Given the description of an element on the screen output the (x, y) to click on. 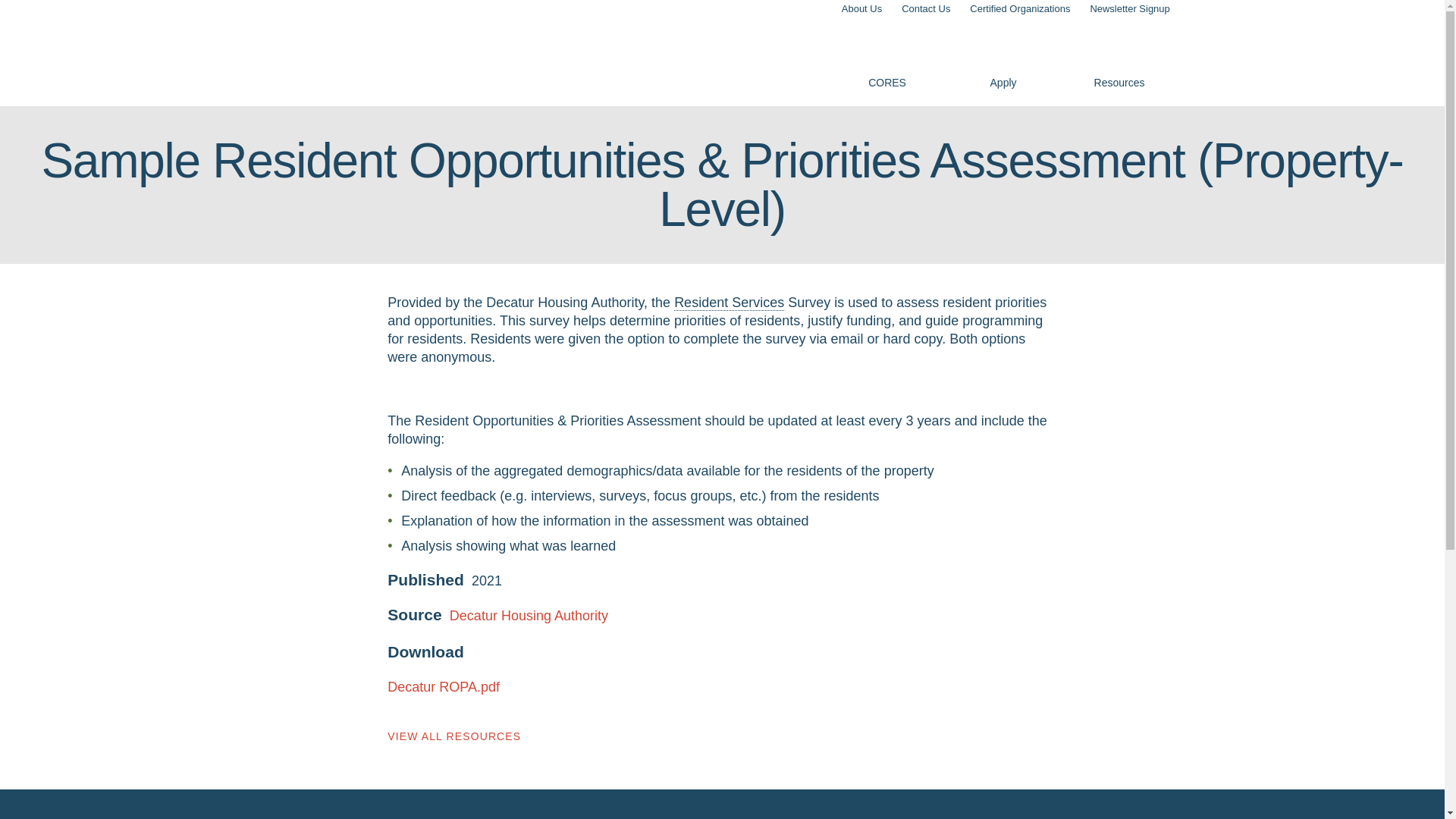
Certified Organizations (1020, 9)
Newsletter Signup (1130, 9)
Resources (1119, 58)
Apply (1002, 58)
VIEW ALL RESOURCES (454, 736)
Decatur Housing Authority (528, 615)
CORES (886, 58)
Decatur ROPA.pdf (443, 686)
About Us (861, 9)
CORES (300, 53)
Home (300, 53)
Contact Us (925, 9)
